Given the description of an element on the screen output the (x, y) to click on. 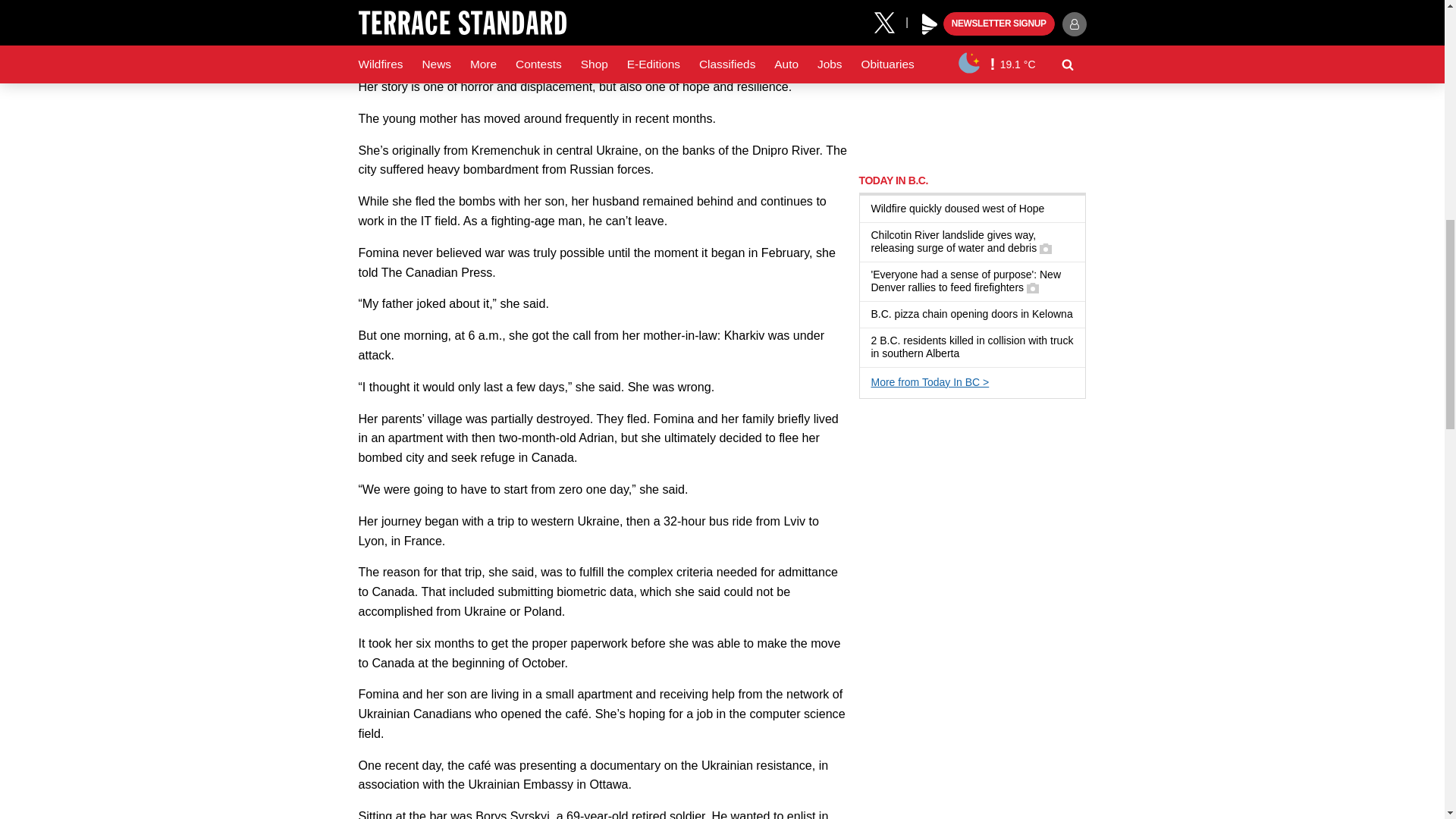
Has a gallery (1032, 287)
Has a gallery (1045, 248)
